Given the description of an element on the screen output the (x, y) to click on. 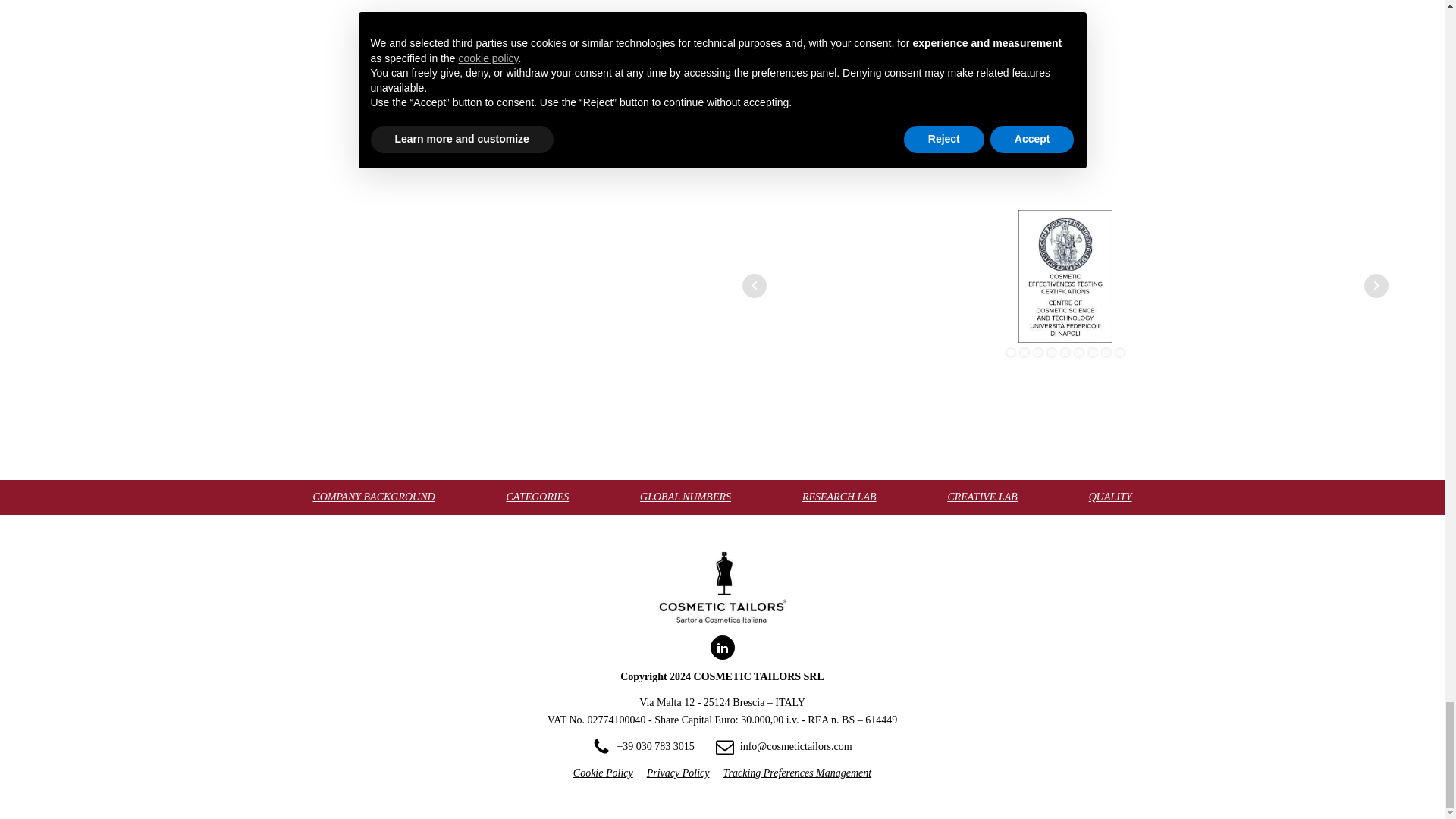
Tracking Preferences Management (797, 773)
RESEARCH LAB (839, 497)
COMPANY BACKGROUND (373, 497)
GLOBAL NUMBERS (685, 497)
CREATIVE LAB (981, 497)
QUALITY (1110, 497)
CATEGORIES (537, 497)
Next (1376, 285)
Cookie Policy (603, 773)
Privacy Policy (678, 773)
Prev (753, 285)
